Given the description of an element on the screen output the (x, y) to click on. 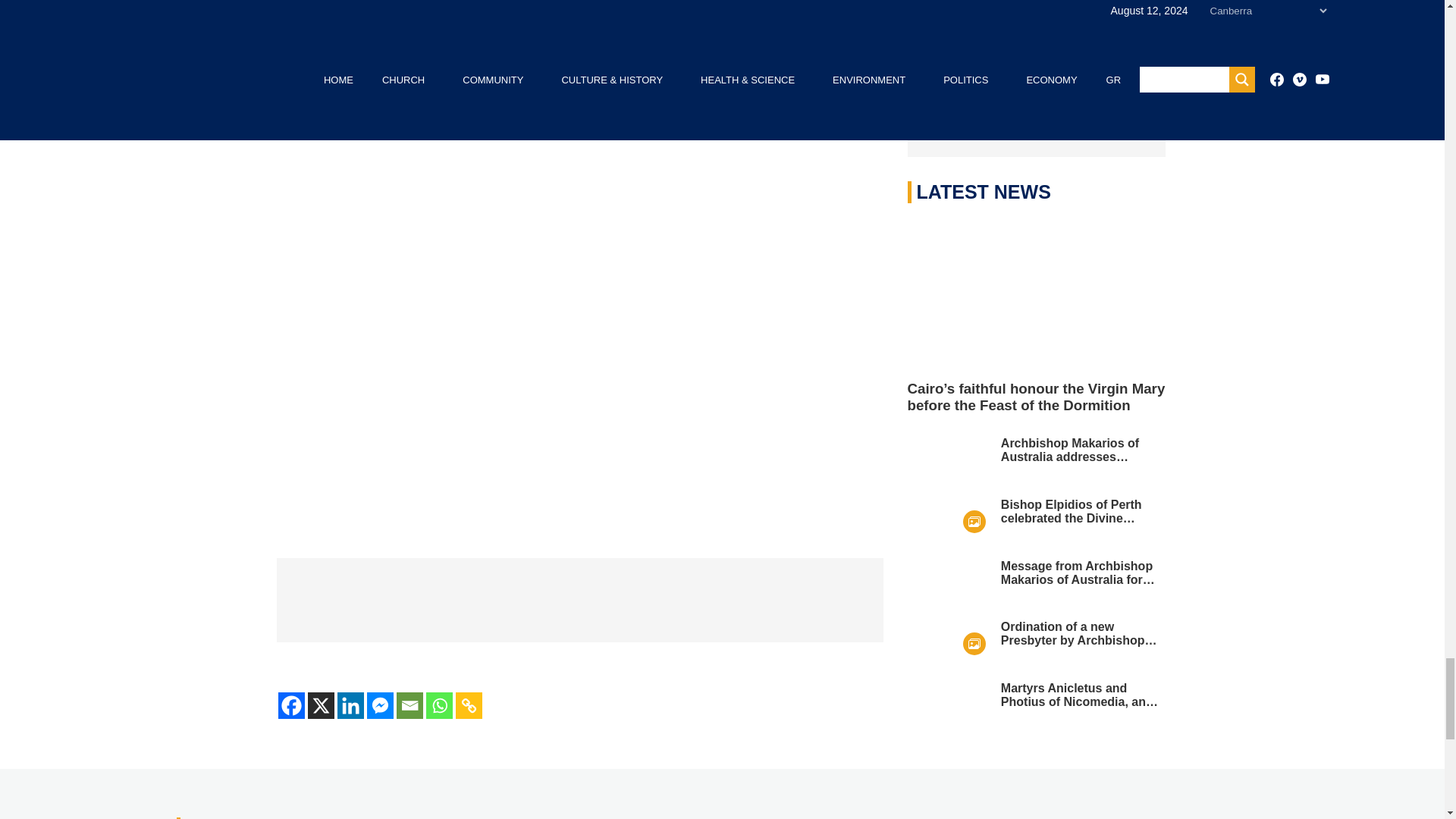
Linkedin (349, 705)
X (320, 705)
Email (409, 705)
Facebook (291, 705)
Copy Link (467, 705)
Whatsapp (439, 705)
ST Spyridon (579, 599)
